Given the description of an element on the screen output the (x, y) to click on. 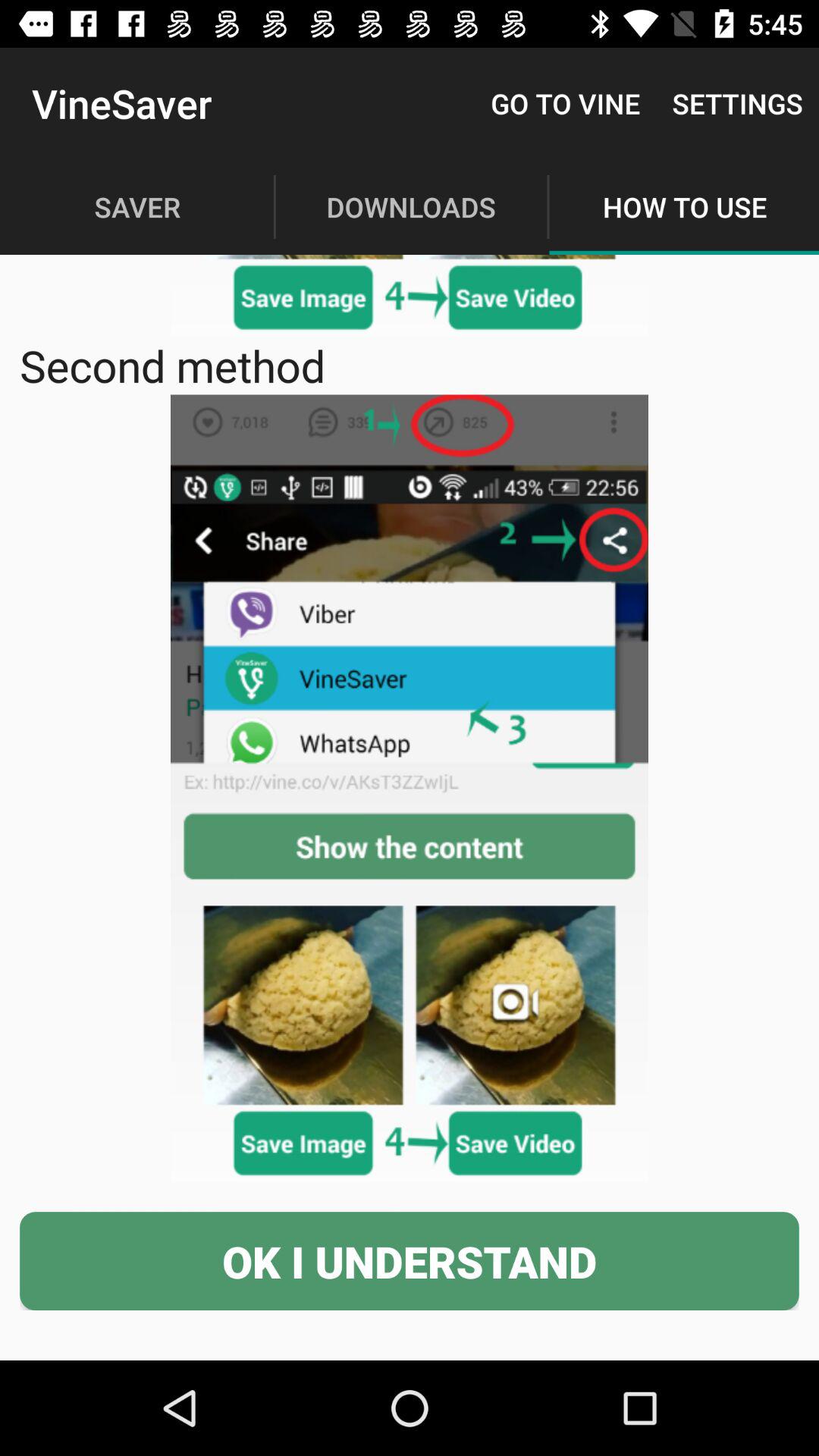
choose icon next to the settings item (565, 103)
